Given the description of an element on the screen output the (x, y) to click on. 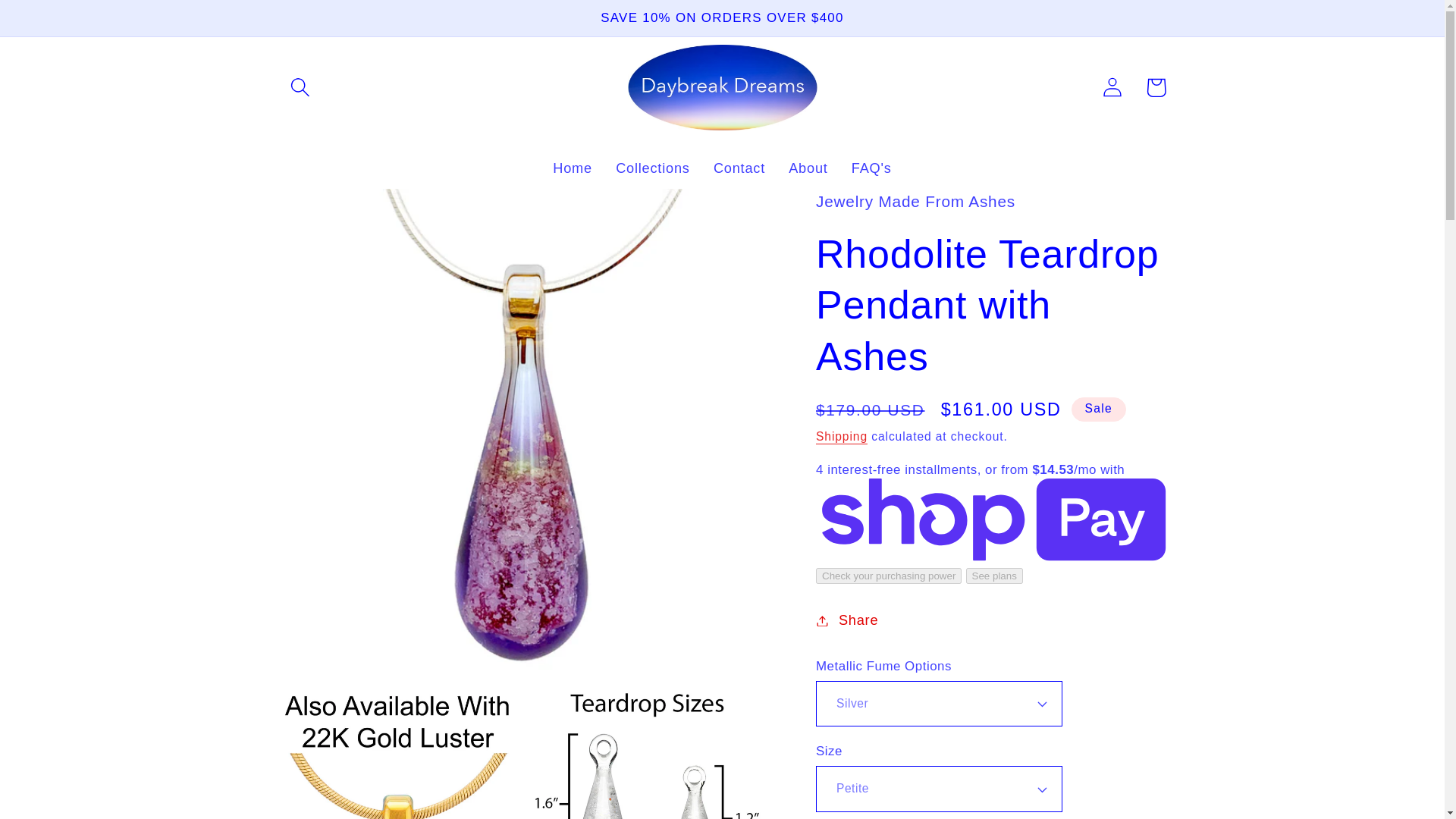
Home (572, 168)
Log in (1112, 87)
Skip to product information (337, 211)
Cart (1155, 87)
FAQ's (871, 168)
About (808, 168)
Collections (652, 168)
Shipping (841, 436)
Contact (738, 168)
Skip to content (59, 22)
